Given the description of an element on the screen output the (x, y) to click on. 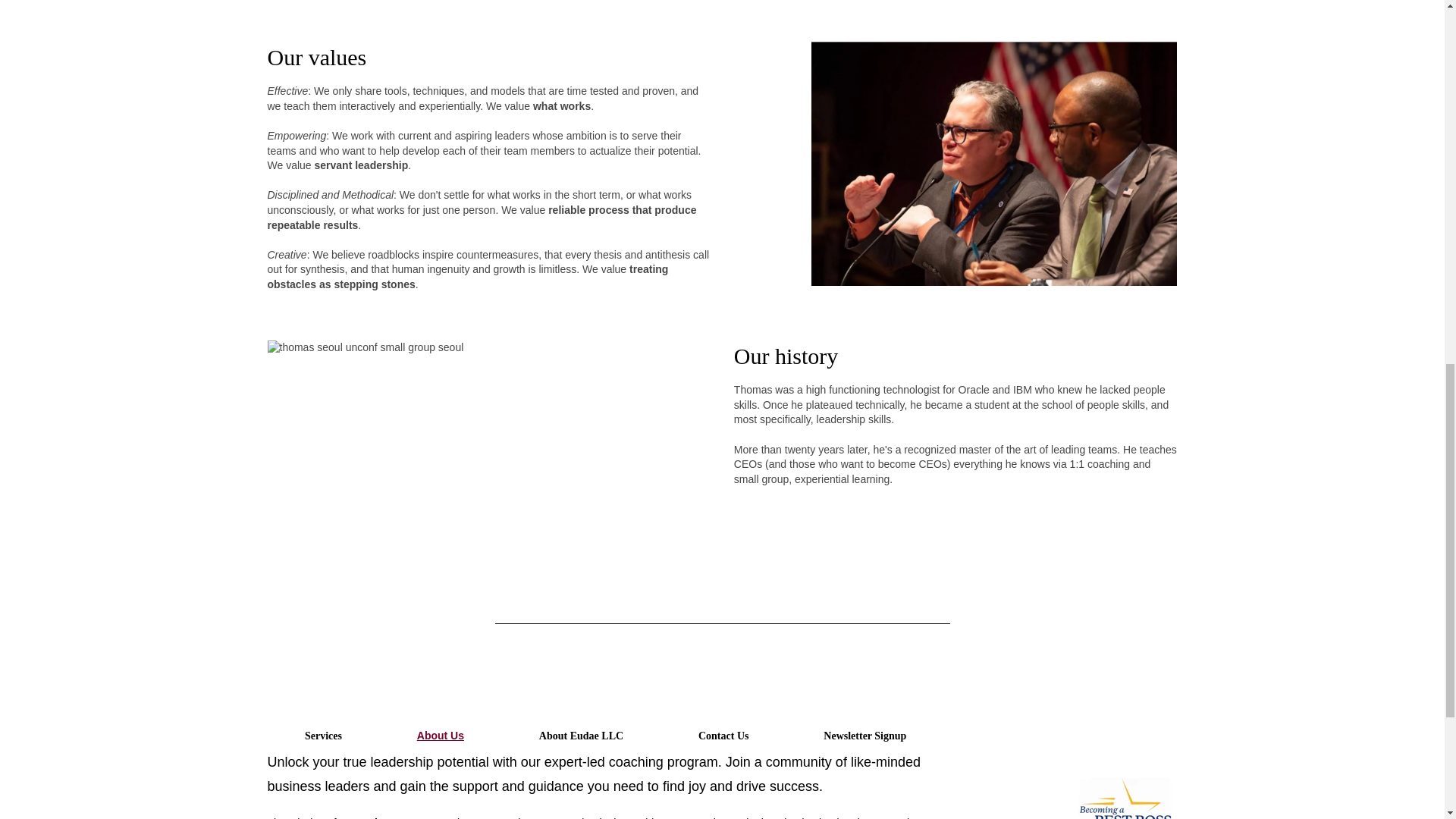
thomas seoul unconf small group seoul (364, 347)
Contact Us (723, 736)
Services (323, 736)
Best Boss logo (1125, 793)
About Eudae LLC (580, 736)
thomasindc (993, 163)
About Us (440, 736)
Newsletter Signup (864, 736)
